Given the description of an element on the screen output the (x, y) to click on. 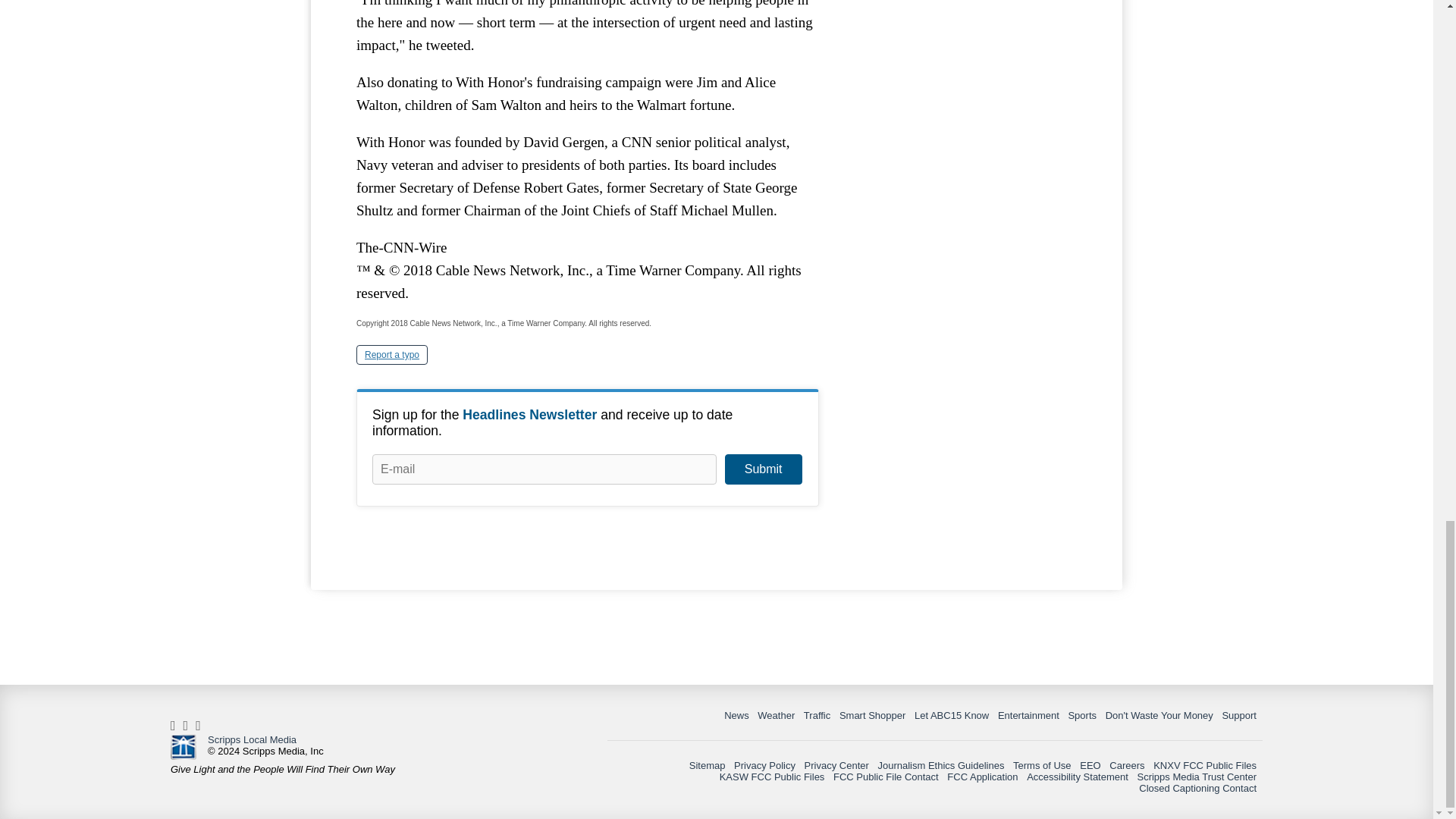
Submit (763, 469)
